Given the description of an element on the screen output the (x, y) to click on. 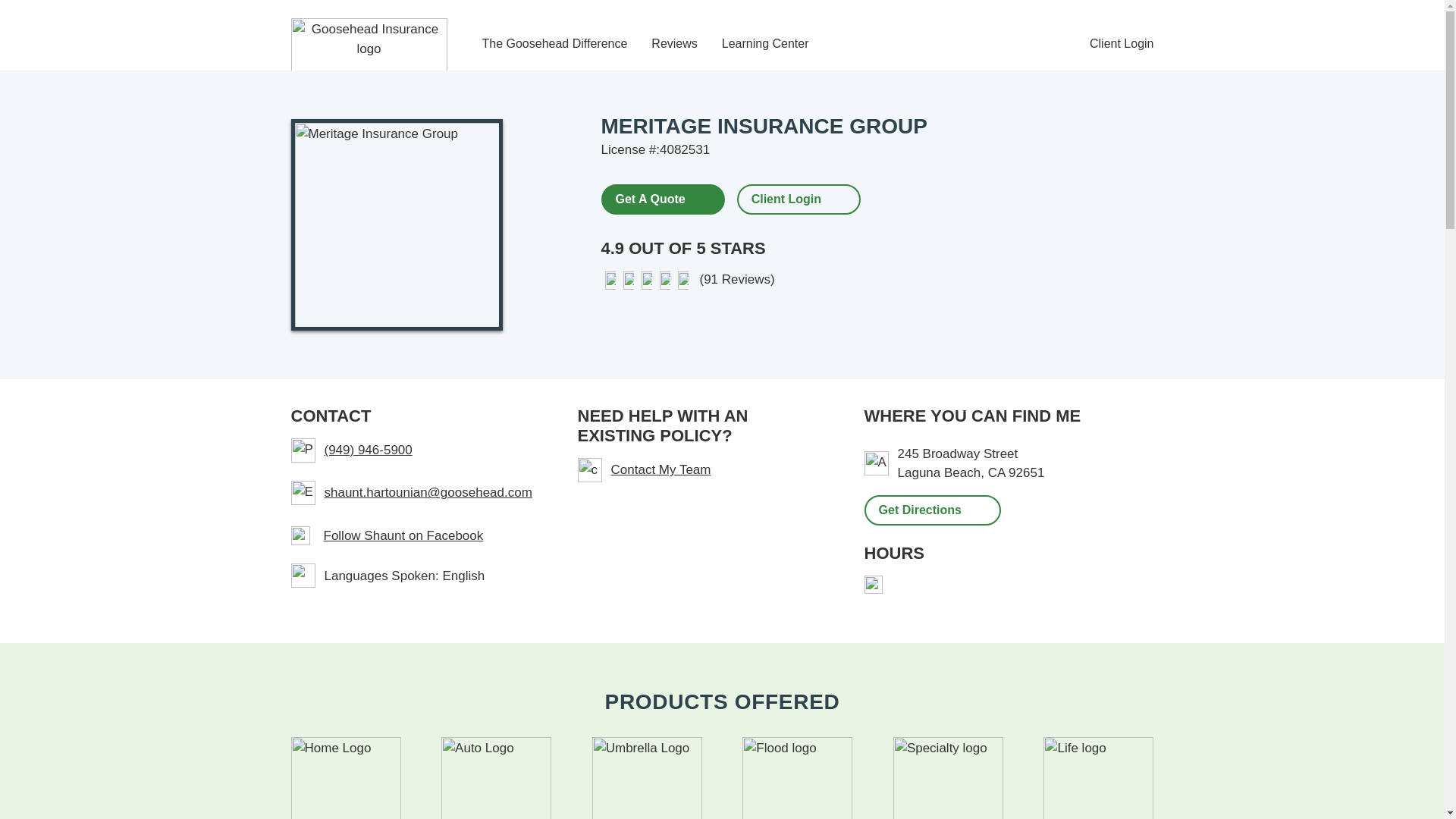
UMBRELLA (646, 778)
Client Login (1121, 44)
Reviews (673, 44)
The Goosehead Difference (554, 44)
AUTO (496, 778)
LIFE (1098, 778)
SPECIALTY (948, 778)
Client Login (786, 198)
California (997, 472)
FLOOD (796, 778)
Learning Center (765, 44)
Contact My Team (703, 469)
HOME (346, 778)
Get A Quote (661, 198)
